Given the description of an element on the screen output the (x, y) to click on. 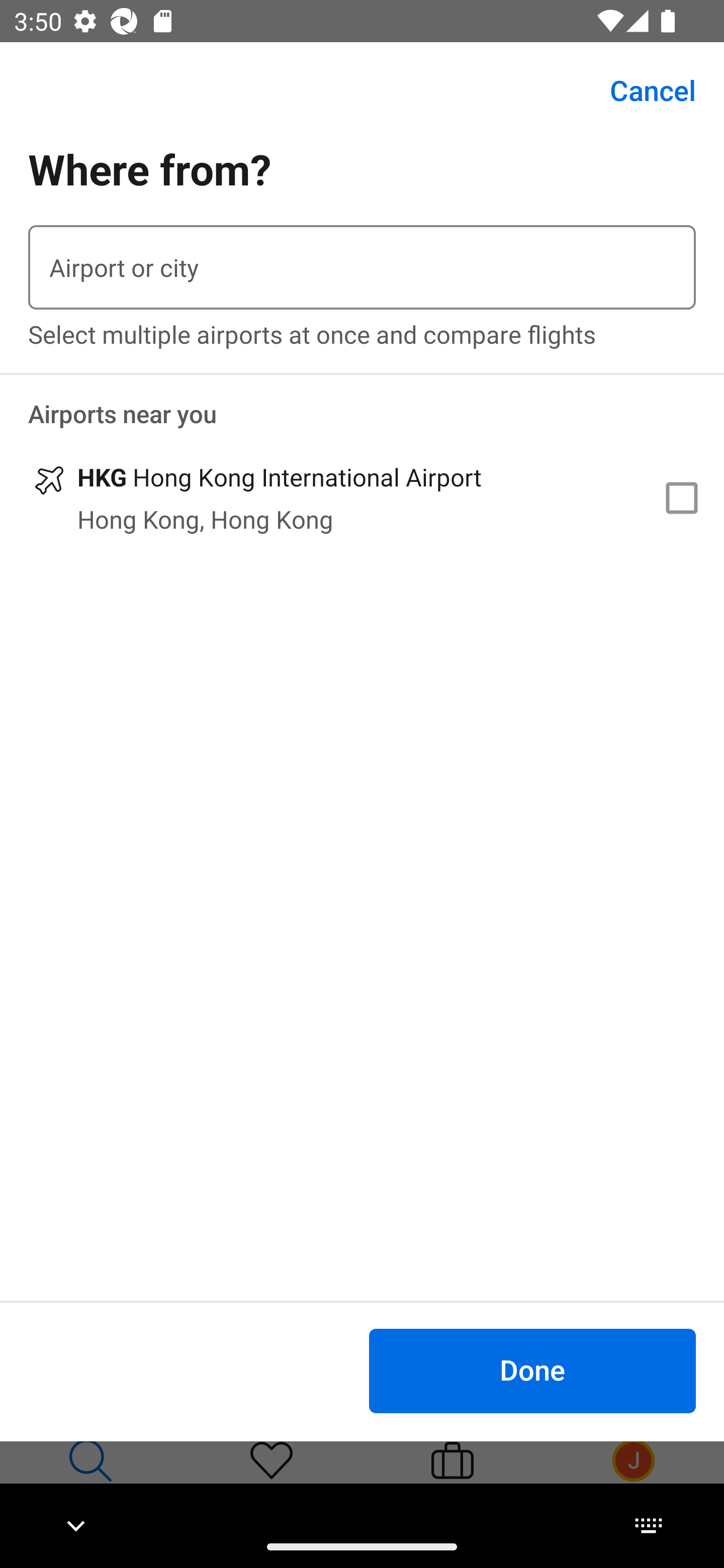
Cancel (641, 90)
Airport or city (361, 266)
Done (532, 1370)
